Given the description of an element on the screen output the (x, y) to click on. 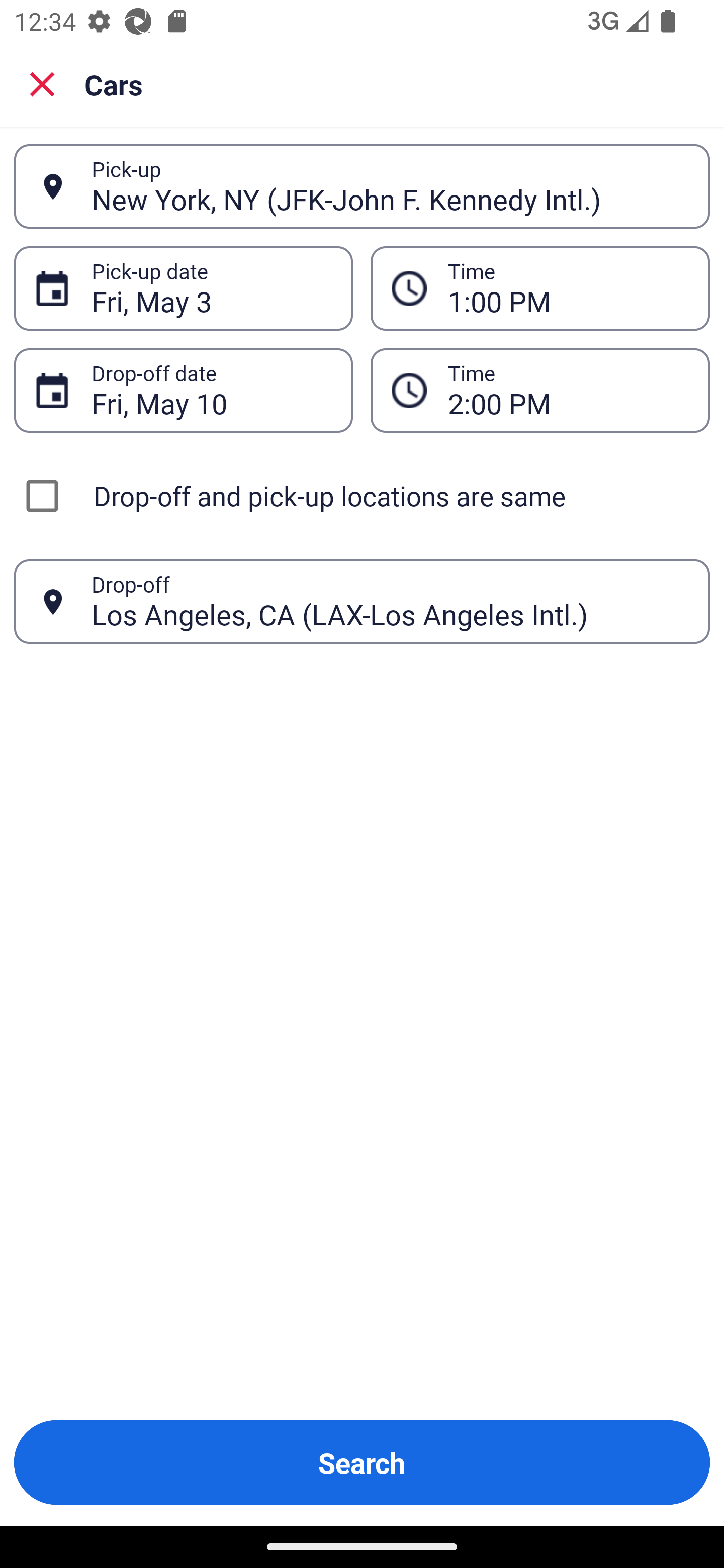
Close search screen (42, 84)
New York, NY (JFK-John F. Kennedy Intl.) (389, 186)
Fri, May 3 (211, 288)
1:00 PM (568, 288)
Fri, May 10 (211, 390)
2:00 PM (568, 390)
Drop-off and pick-up locations are same (361, 495)
Los Angeles, CA (LAX-Los Angeles Intl.) (389, 601)
Search Button Search (361, 1462)
